Given the description of an element on the screen output the (x, y) to click on. 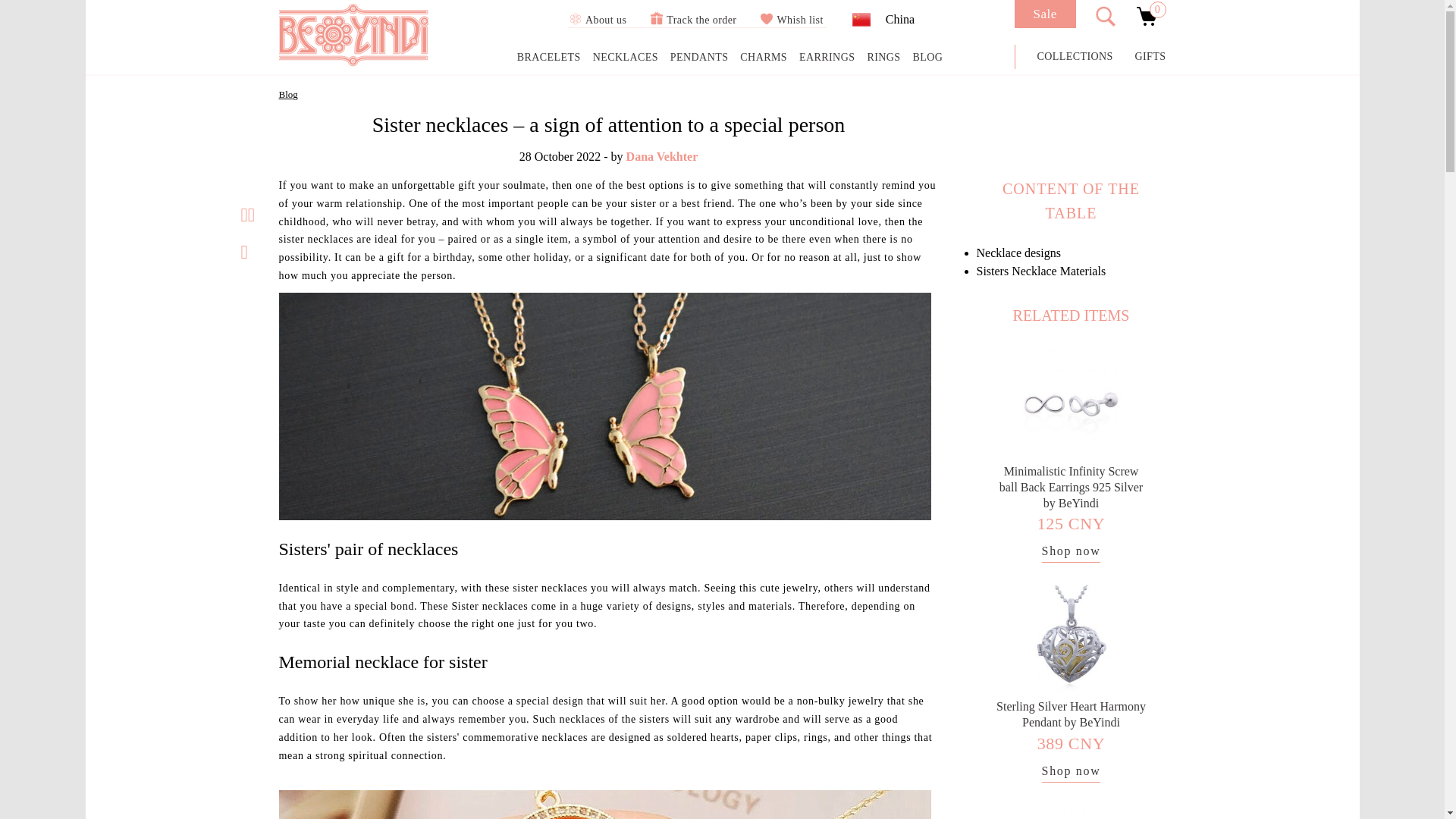
CHARMS (763, 57)
Track the order (692, 19)
About us (596, 19)
Shop now (1071, 552)
Sisters Necklace Materials (1041, 270)
COLLECTIONS (1074, 56)
PENDANTS (698, 57)
BLOG (927, 57)
Blog (288, 94)
